Given the description of an element on the screen output the (x, y) to click on. 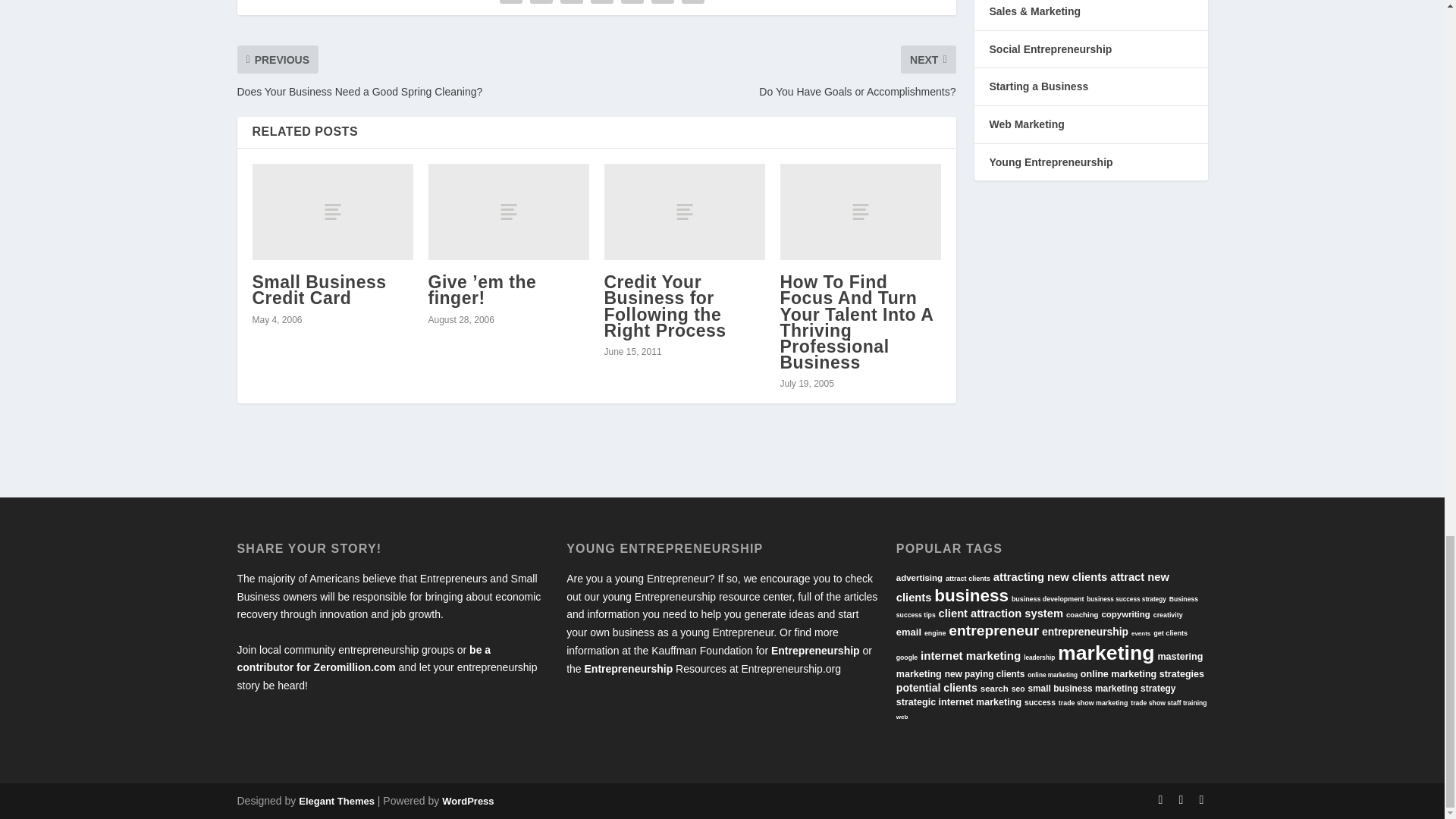
Credit Your Business for Following the Right Process (664, 305)
Small Business Credit Card (318, 289)
Share "Best of the Janes: Planning for the Future" via Print (692, 3)
Credit Your Business for Following the Right Process (684, 211)
Small Business Credit Card (331, 211)
Share "Best of the Janes: Planning for the Future" via Email (662, 3)
